Given the description of an element on the screen output the (x, y) to click on. 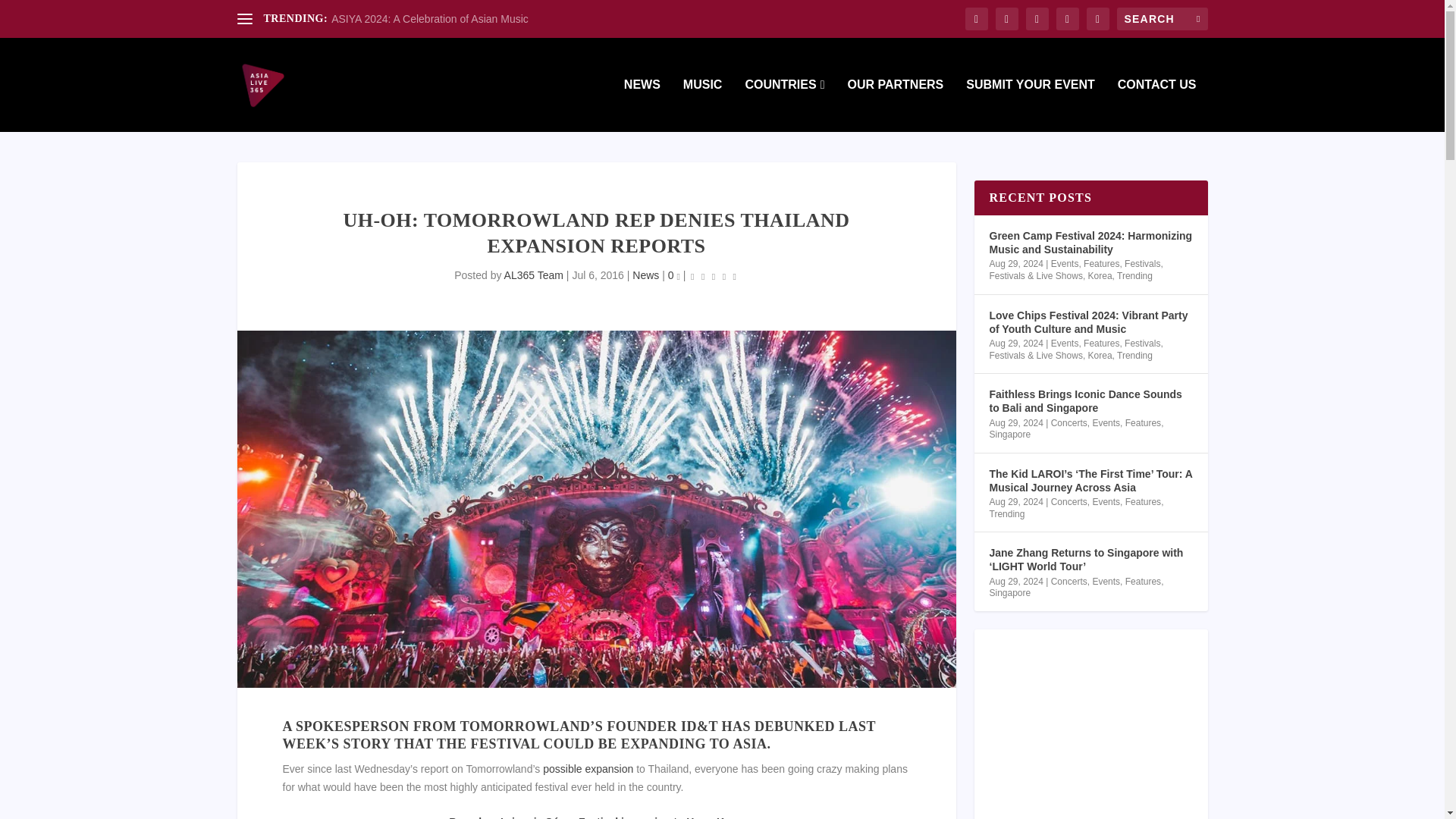
CONTACT US (1157, 104)
OUR PARTNERS (895, 104)
AL365 Team (533, 275)
Posts by AL365 Team (533, 275)
Search for: (1161, 18)
ASIYA 2024: A Celebration of Asian Music (429, 19)
Rating: 0.00 (713, 275)
0 (673, 275)
SUBMIT YOUR EVENT (1030, 104)
COUNTRIES (784, 104)
